Given the description of an element on the screen output the (x, y) to click on. 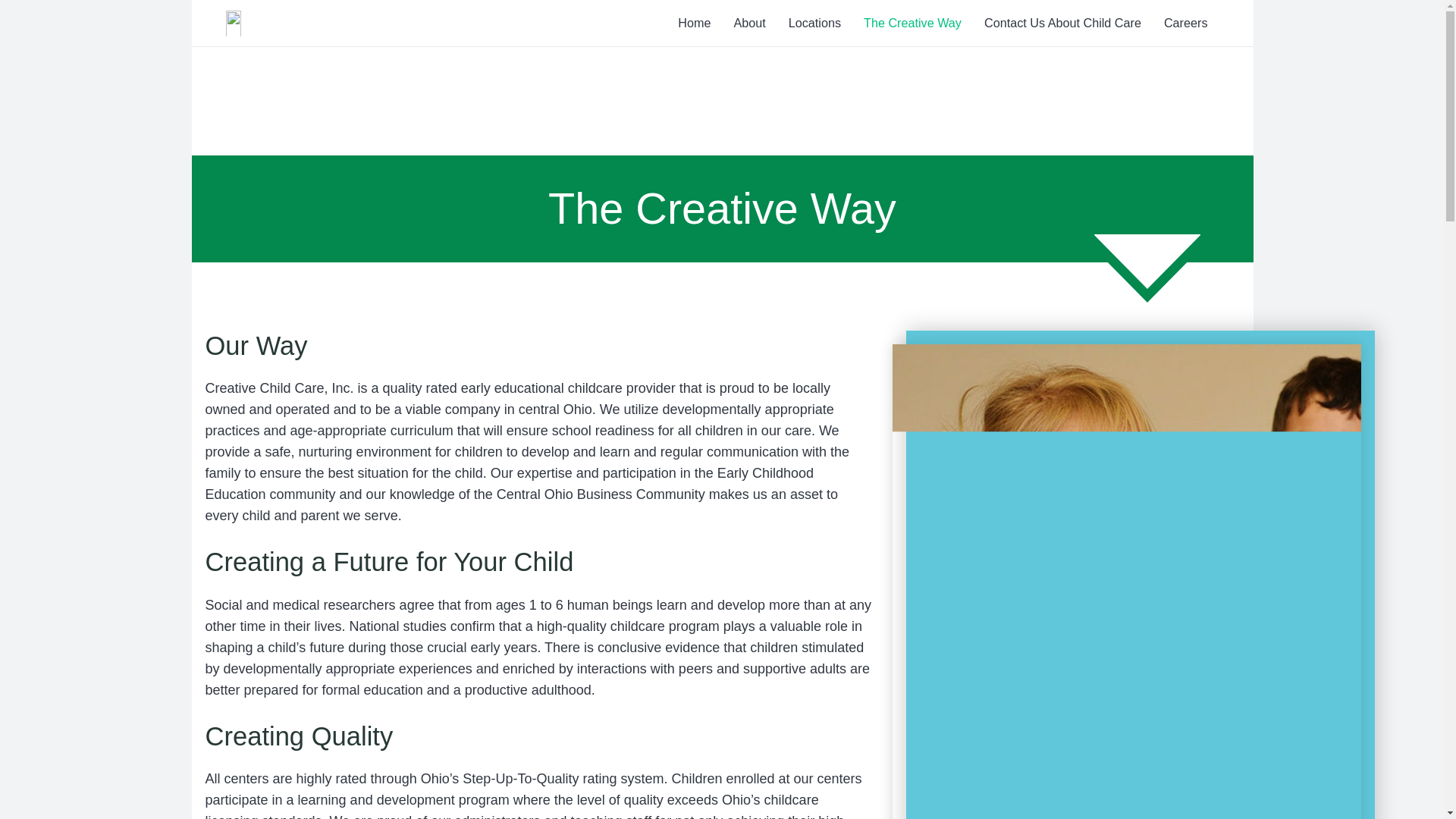
Contact Us About Child Care (1062, 22)
About (749, 22)
Careers (1186, 22)
Locations (814, 22)
The Creative Way (911, 22)
Home (694, 22)
